Given the description of an element on the screen output the (x, y) to click on. 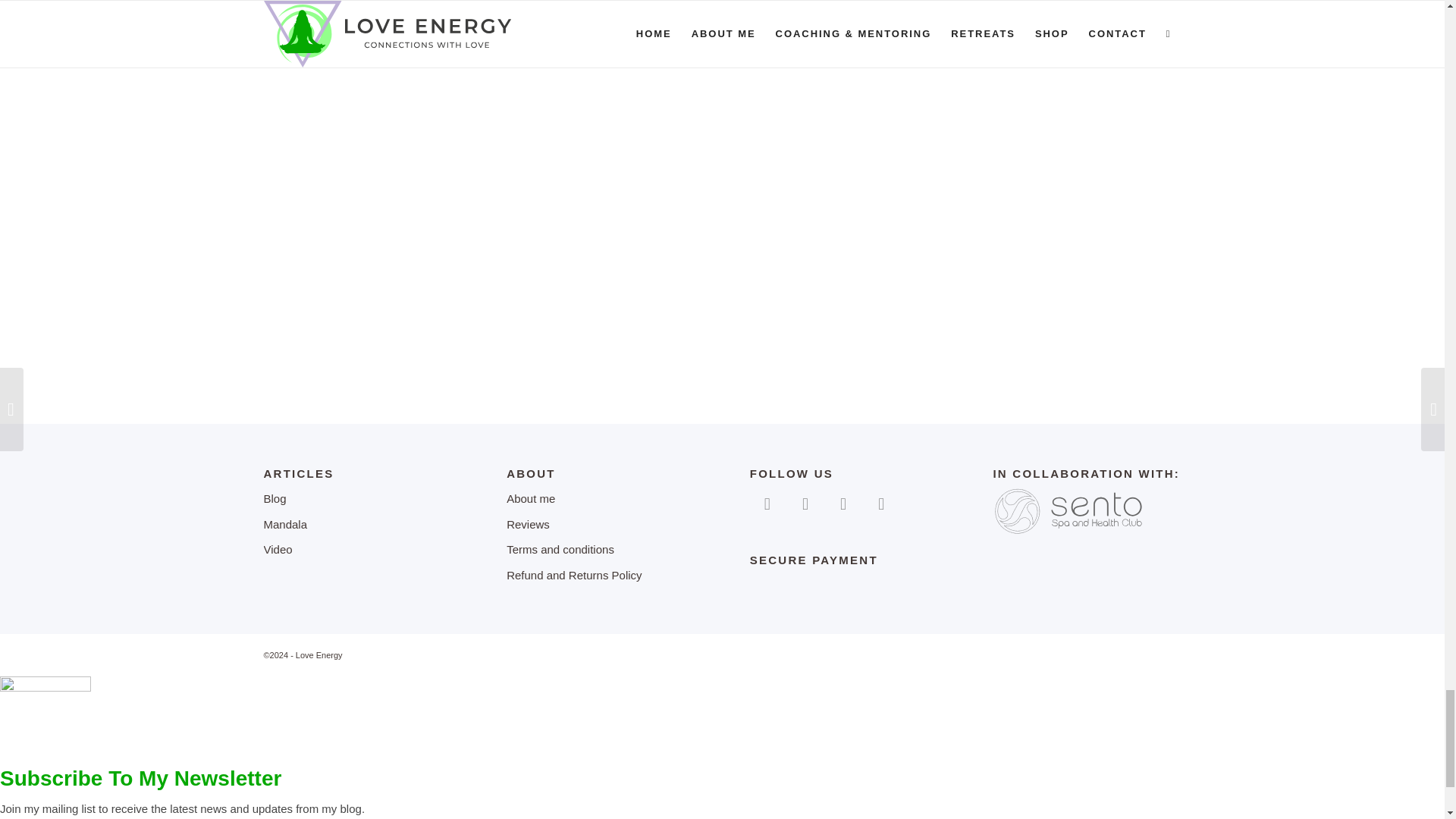
Reviews (600, 525)
YouTube (842, 502)
Telephone (880, 502)
Instagram (804, 502)
Refund and Returns Policy (600, 575)
Facebook (766, 502)
Video (357, 550)
Terms and conditions (600, 550)
Blog (357, 499)
About me (600, 499)
Mandala (357, 525)
